Given the description of an element on the screen output the (x, y) to click on. 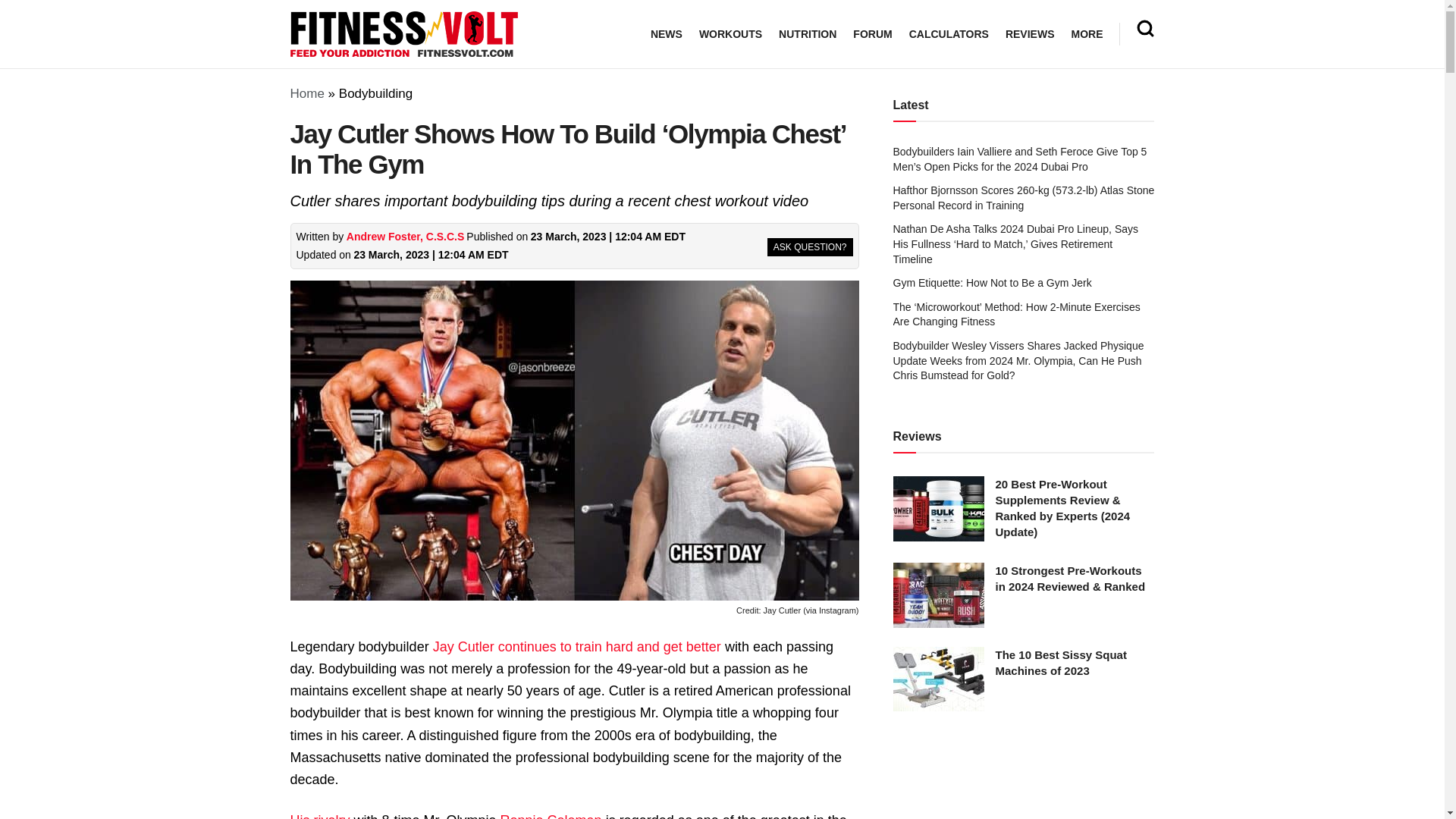
REVIEWS (1030, 34)
CALCULATORS (948, 34)
WORKOUTS (729, 34)
NEWS (666, 34)
NUTRITION (806, 34)
MORE (1086, 34)
FORUM (872, 34)
